Given the description of an element on the screen output the (x, y) to click on. 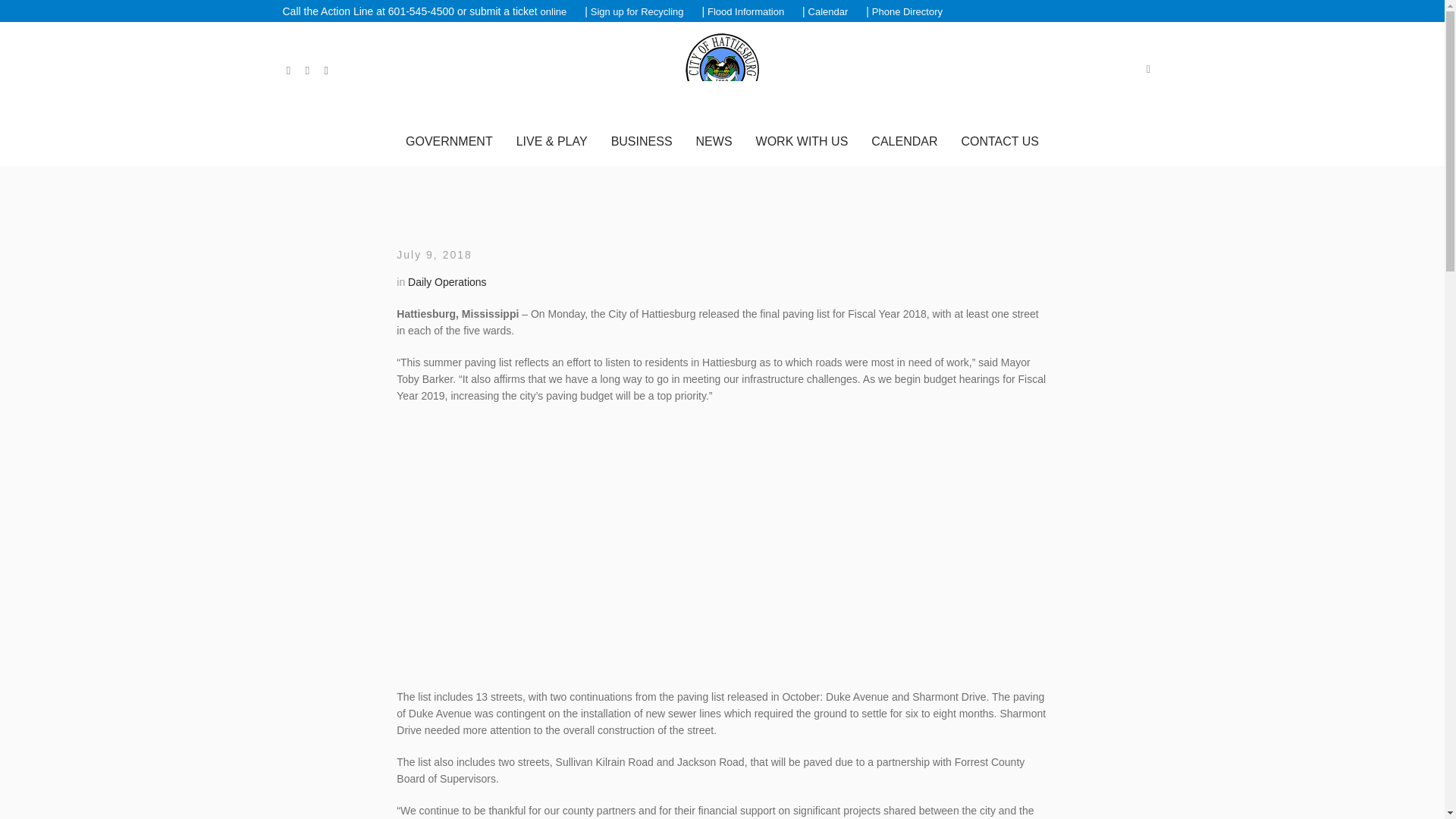
online (553, 11)
GOVERNMENT (448, 141)
Flood Information (745, 11)
YouTube (325, 70)
Phone Directory (907, 11)
Sign up for Recycling (637, 11)
Facebook (288, 70)
Twitter (307, 70)
July 9, 2018 (433, 254)
Calendar (828, 11)
